Given the description of an element on the screen output the (x, y) to click on. 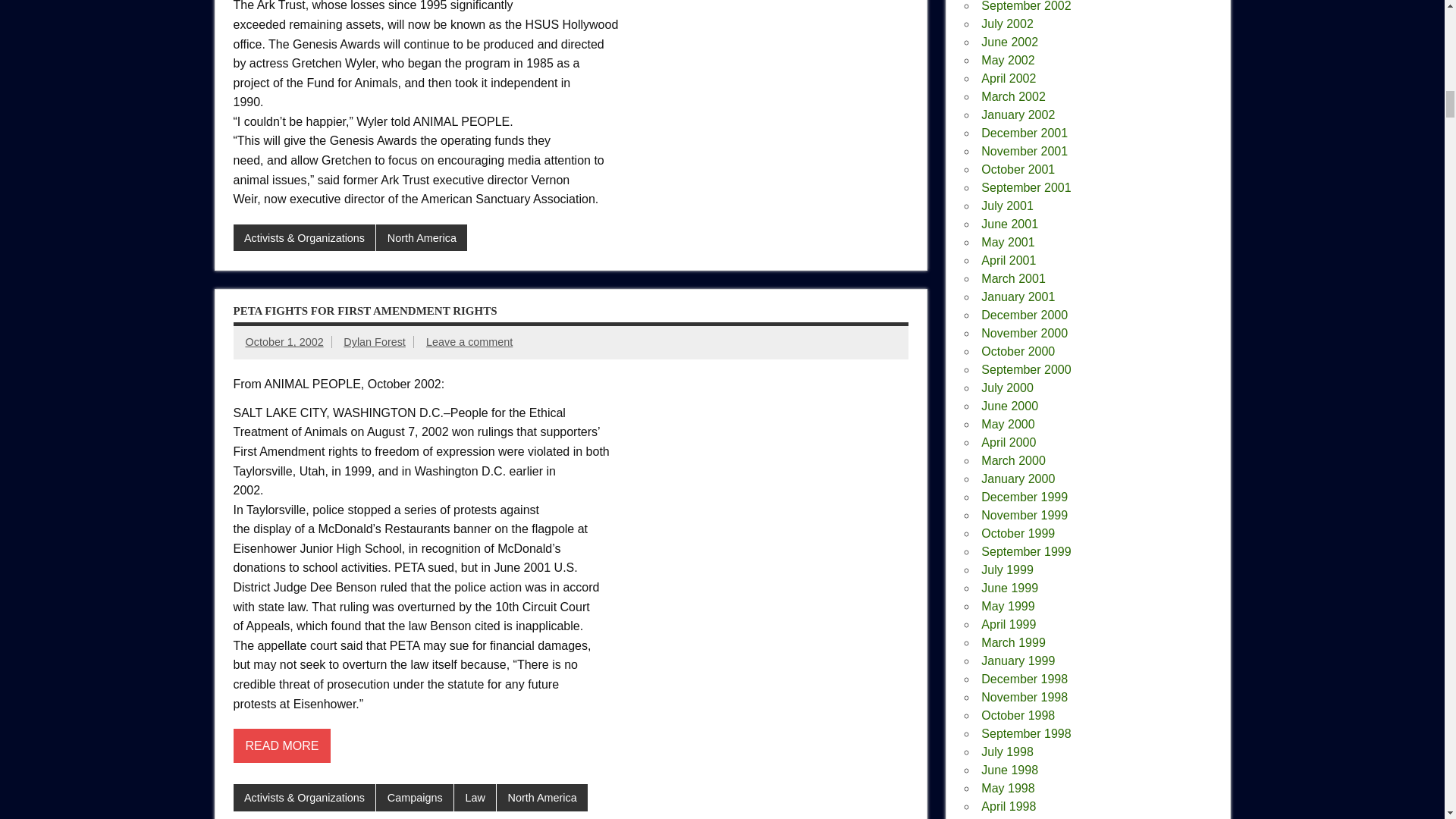
View all posts by Dylan Forest (374, 341)
6:51 pm (284, 341)
